Given the description of an element on the screen output the (x, y) to click on. 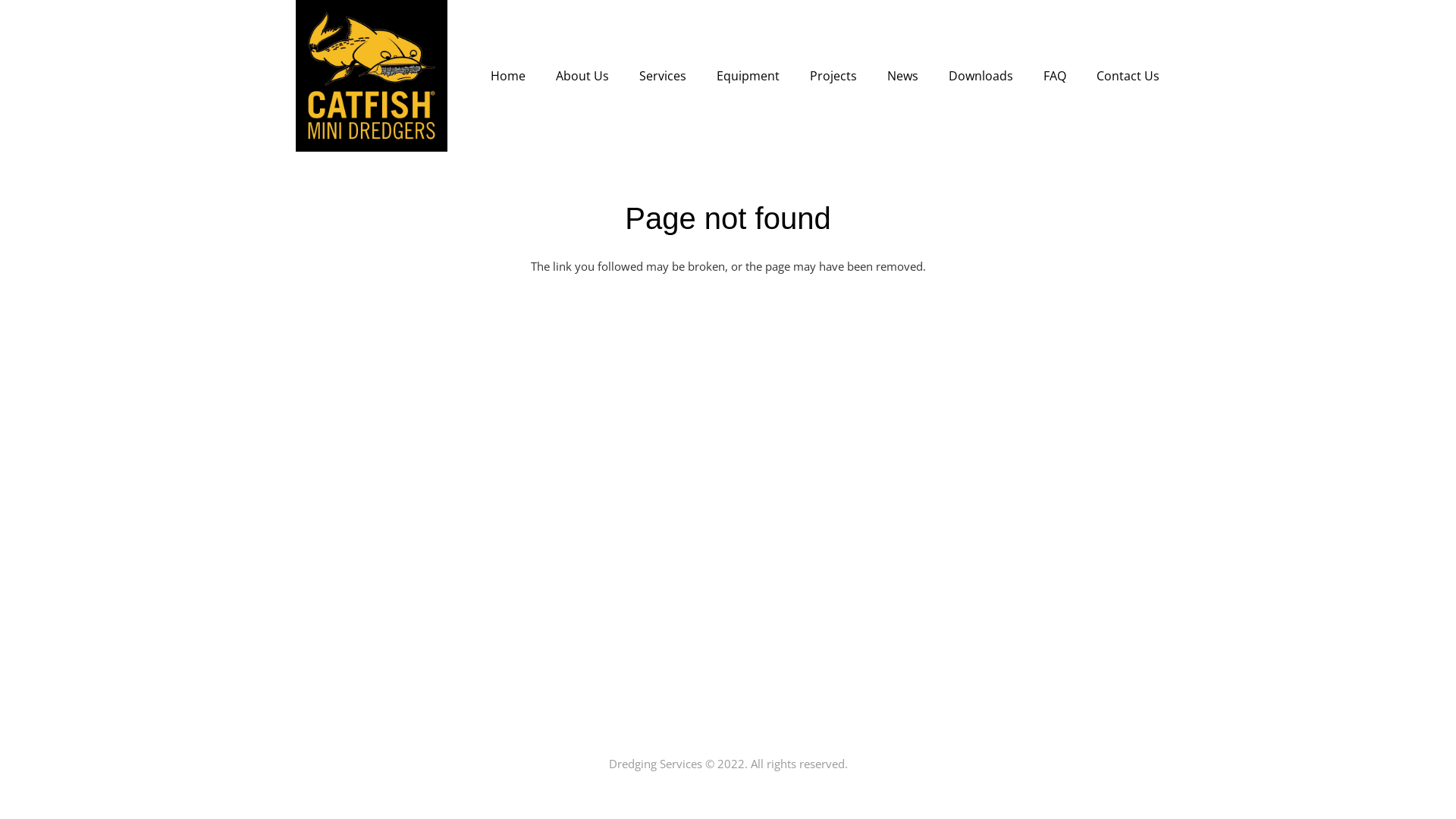
Downloads Element type: text (980, 75)
Home Element type: text (507, 75)
Equipment Element type: text (747, 75)
Projects Element type: text (833, 75)
News Element type: text (902, 75)
Contact Us Element type: text (1127, 75)
FAQ Element type: text (1054, 75)
Services Element type: text (662, 75)
About Us Element type: text (582, 75)
